Given the description of an element on the screen output the (x, y) to click on. 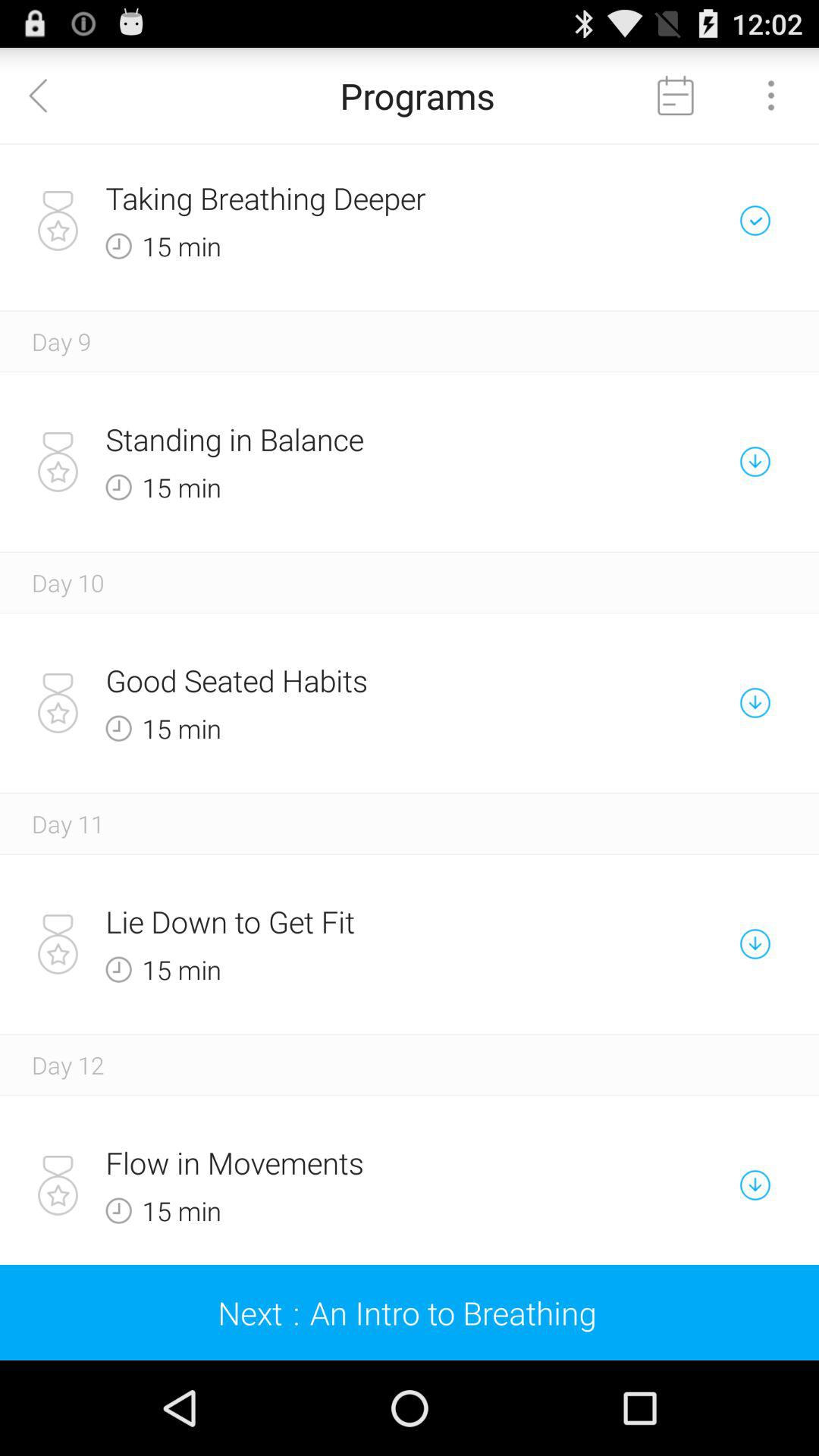
select the day 12 item (67, 1064)
